Given the description of an element on the screen output the (x, y) to click on. 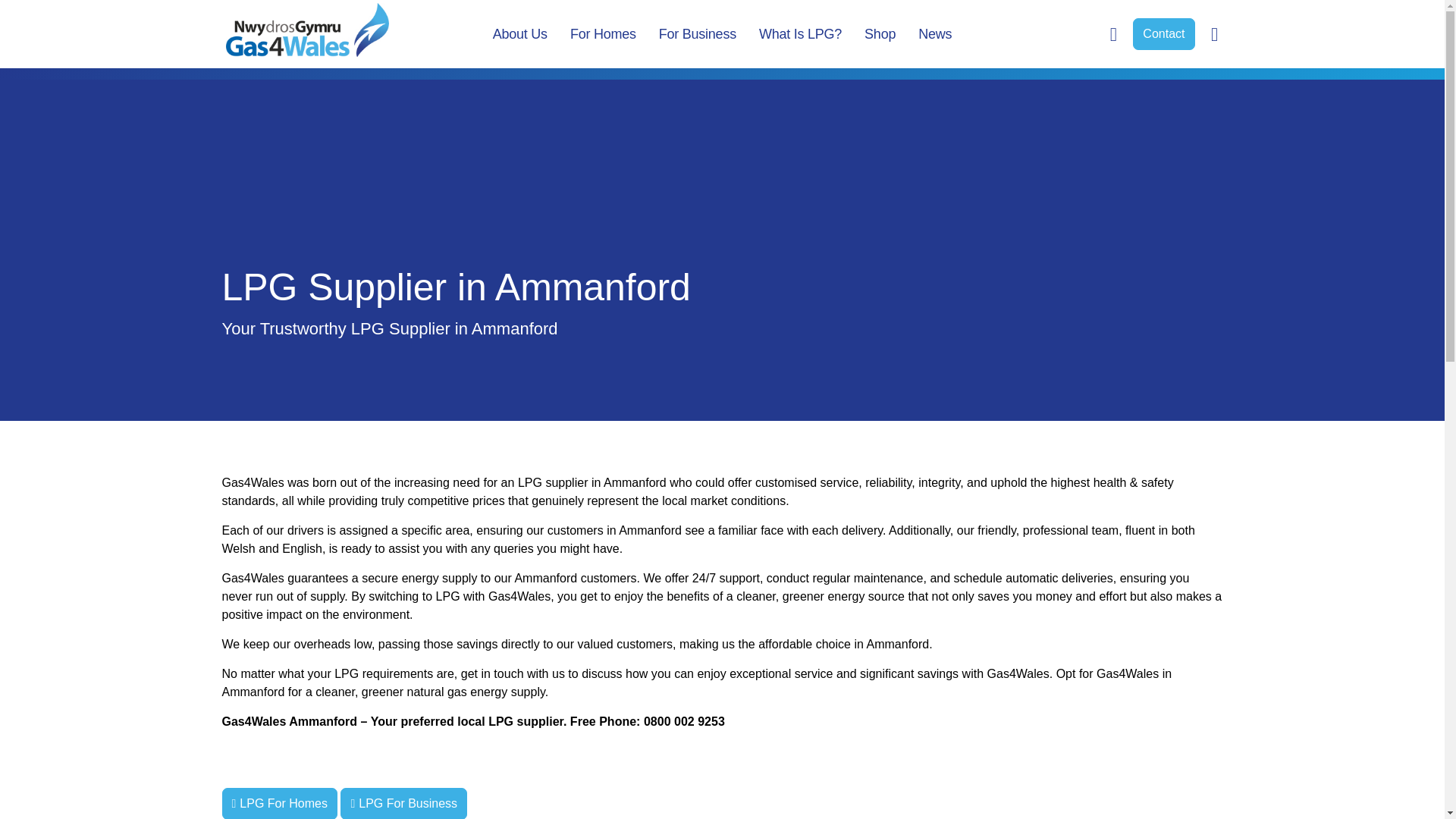
For Homes (603, 33)
For Business (697, 33)
Gas4Wales (306, 29)
LPG For Business (403, 803)
What Is LPG? (800, 33)
Contact (1162, 33)
LPG For Homes (278, 803)
About Us (520, 33)
